Given the description of an element on the screen output the (x, y) to click on. 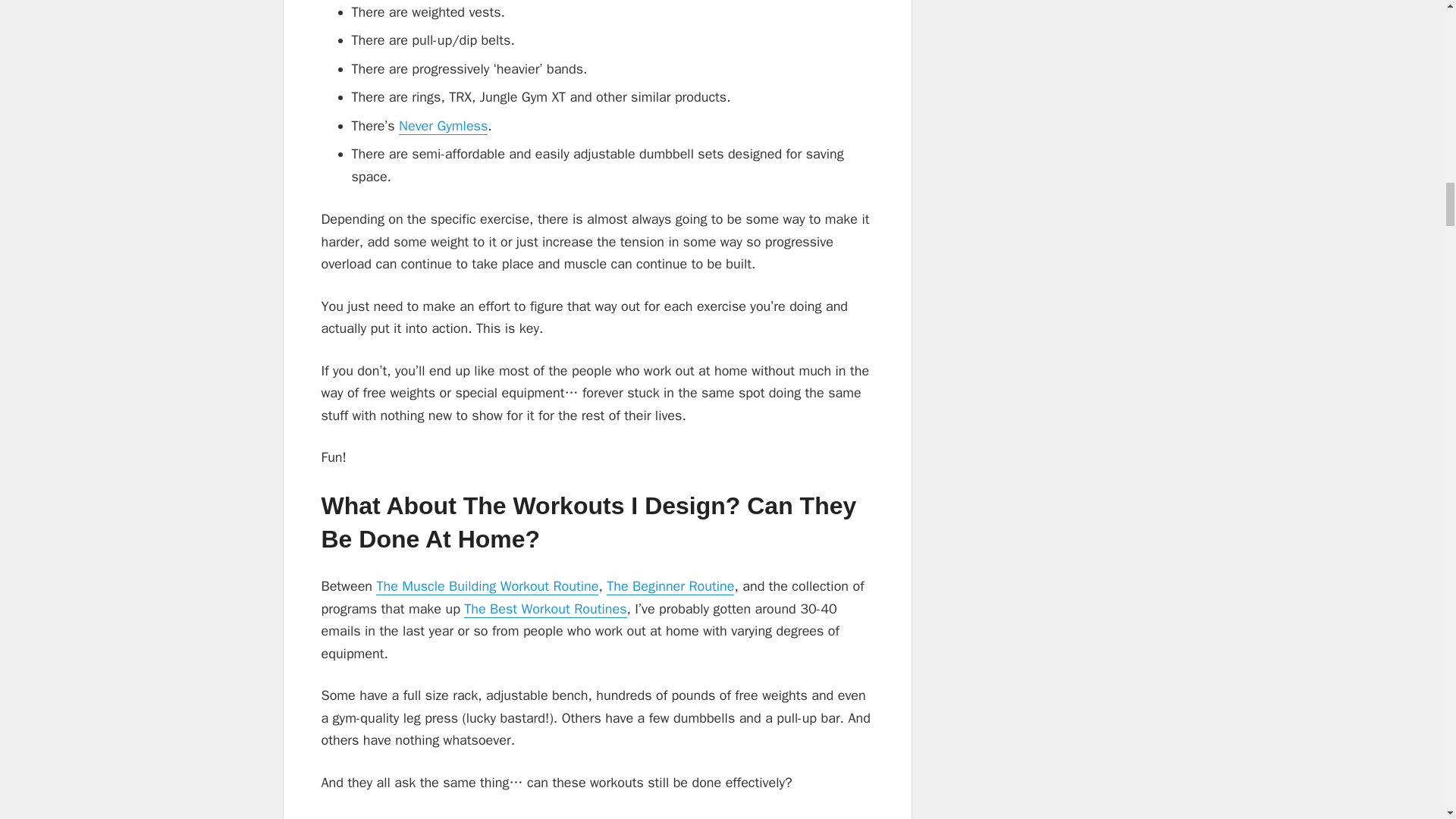
The Muscle Building Workout Routine (486, 586)
The Muscle Building Workout Routine (486, 586)
The Best Workout Routines (545, 609)
Never Gymless (442, 126)
The Best Workout Routines (545, 609)
The Beginner Weight Training Workout Routine (670, 586)
The Beginner Routine (670, 586)
